Given the description of an element on the screen output the (x, y) to click on. 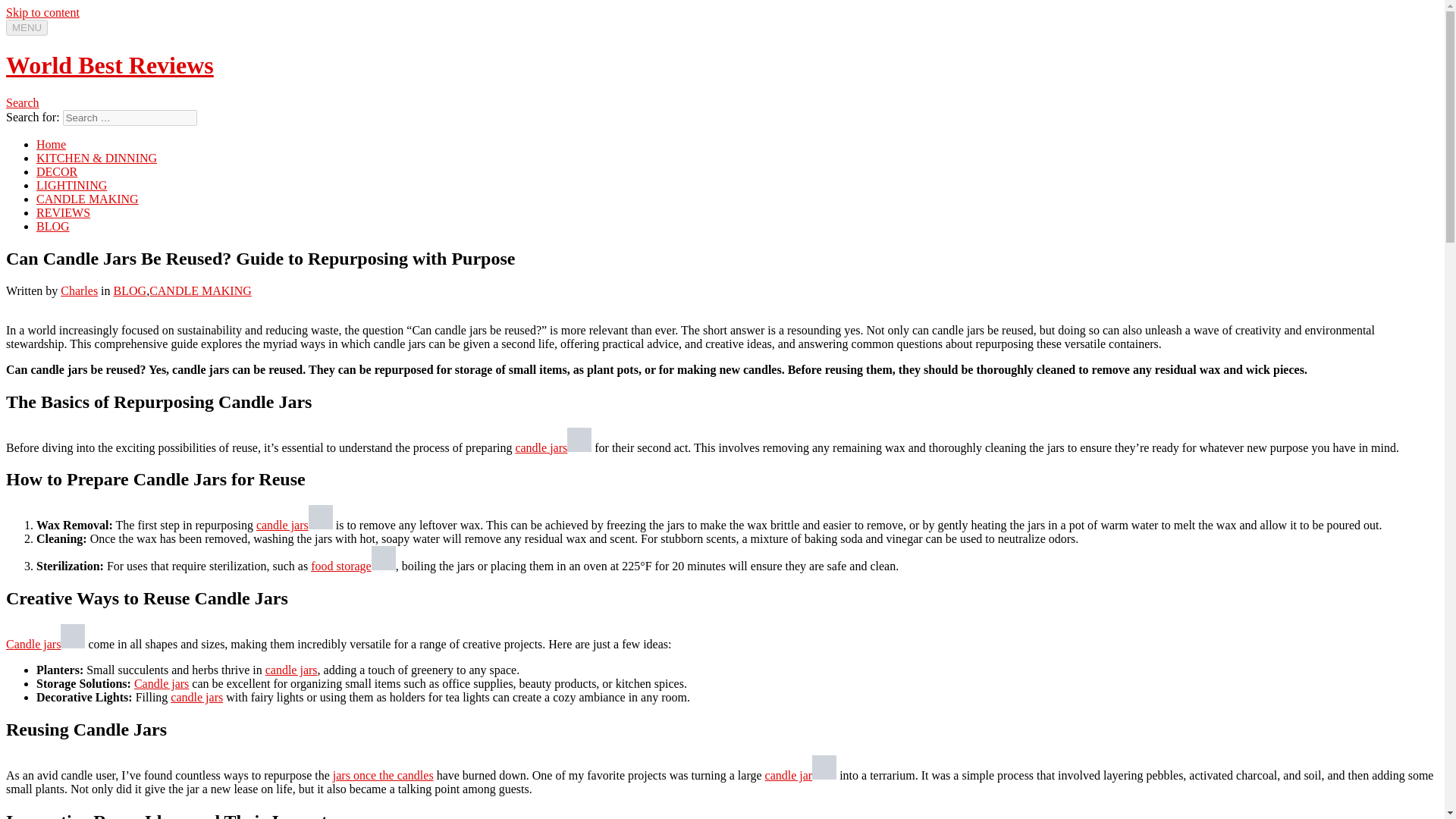
Candle jars (44, 644)
Home (50, 144)
candle jars (290, 669)
LIGHTINING (71, 185)
Charles (79, 290)
Are Yankee Candle Jars Food Safe? (294, 524)
food storage (353, 565)
How Long Do Mason Jar Candles Last? (553, 447)
DECOR (56, 171)
Opens in a new tab. (579, 439)
